Given the description of an element on the screen output the (x, y) to click on. 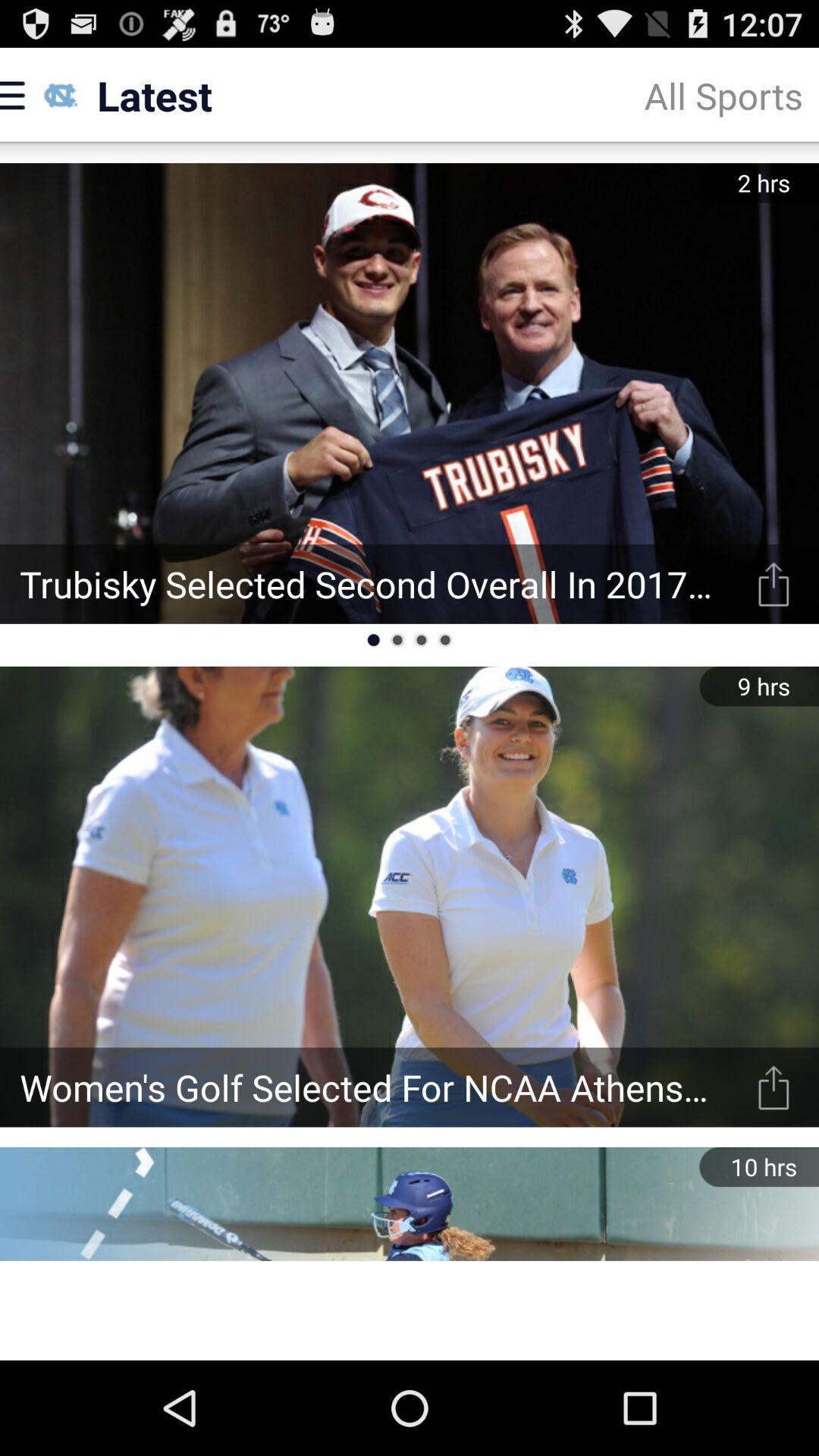
tap the all sports (723, 95)
